Given the description of an element on the screen output the (x, y) to click on. 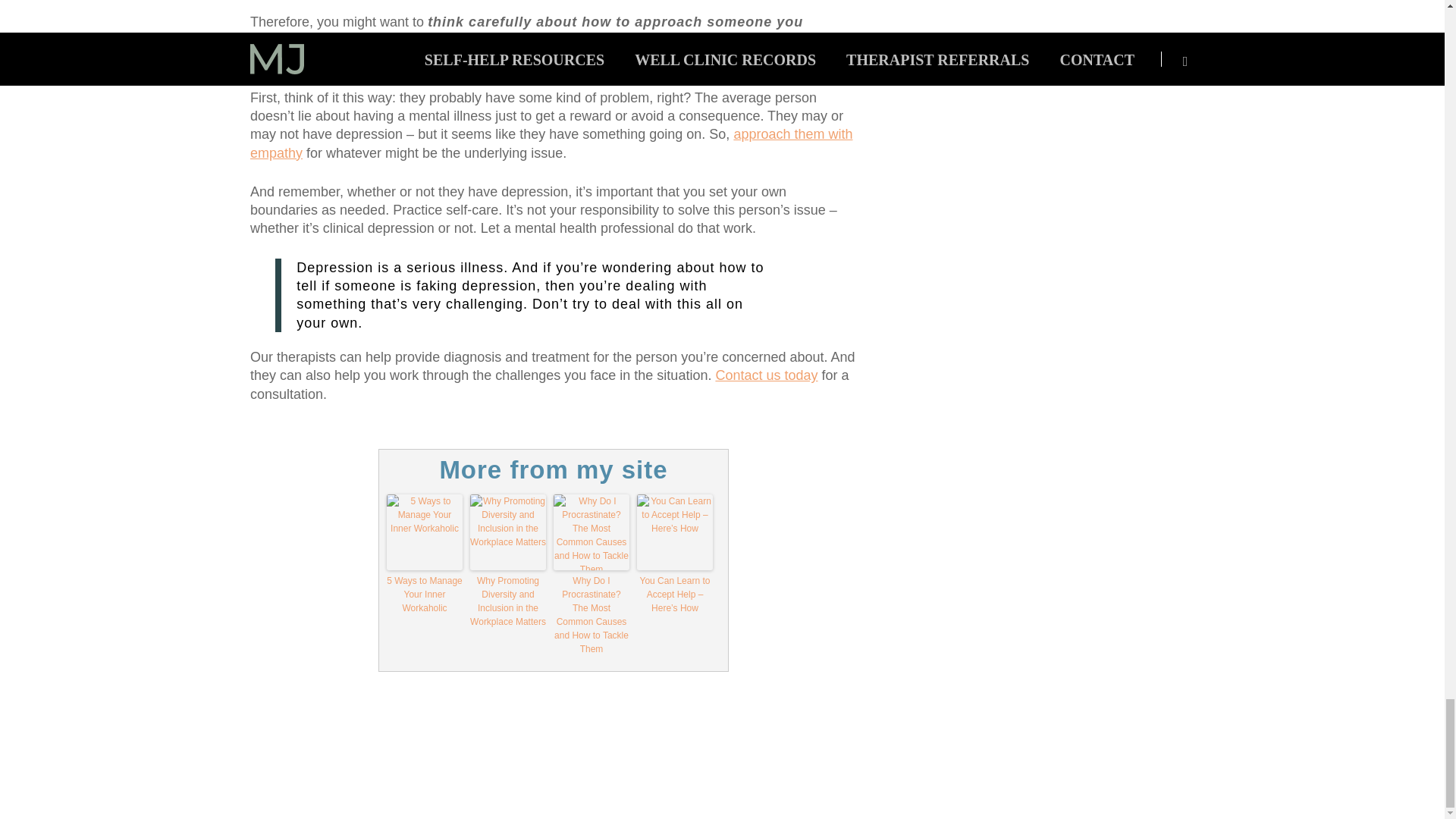
Contact us today (765, 375)
approach them with empathy (550, 142)
5 Ways to Manage Your Inner Workaholic (425, 594)
